Given the description of an element on the screen output the (x, y) to click on. 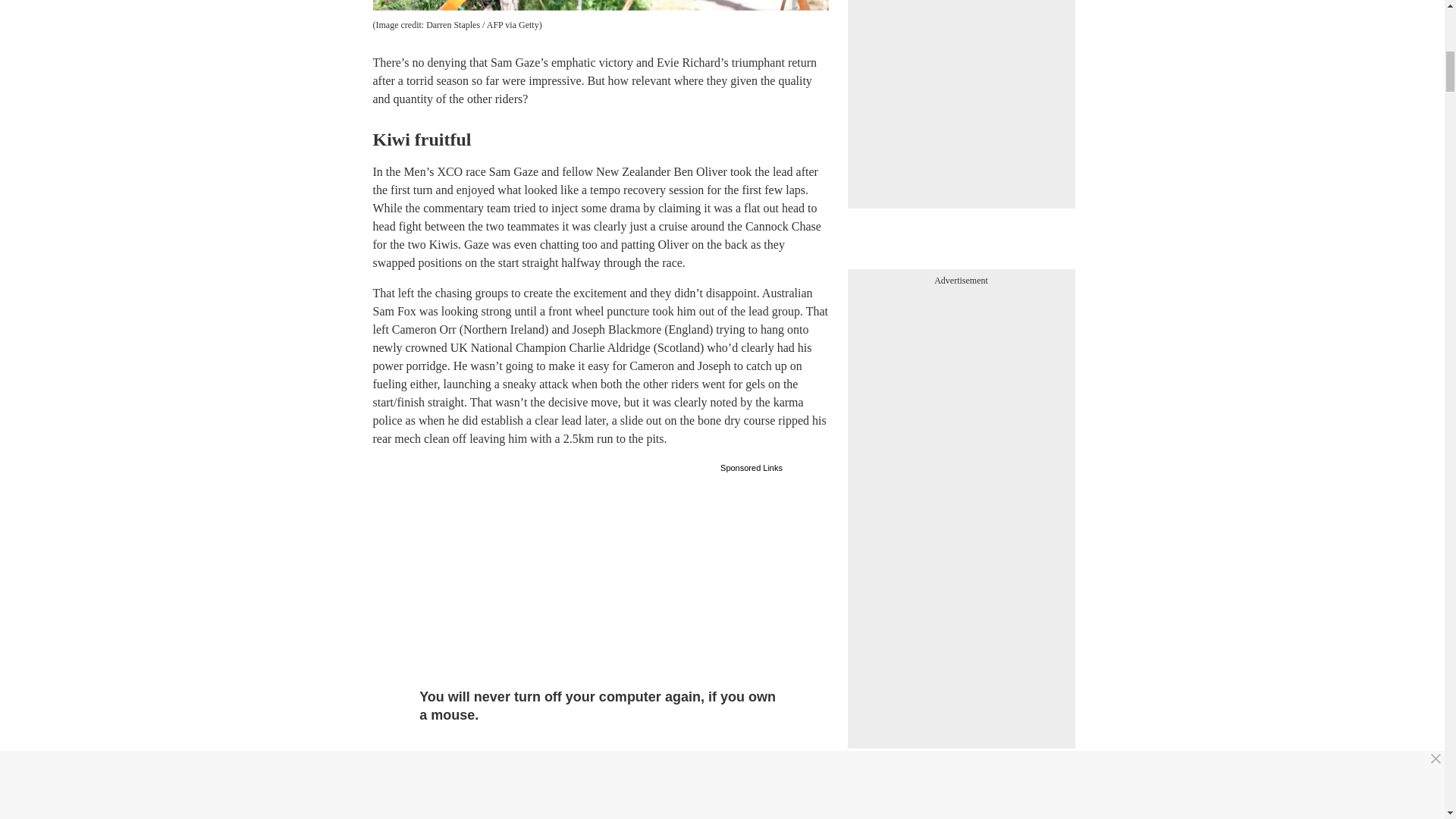
Sponsored Links (751, 466)
